Given the description of an element on the screen output the (x, y) to click on. 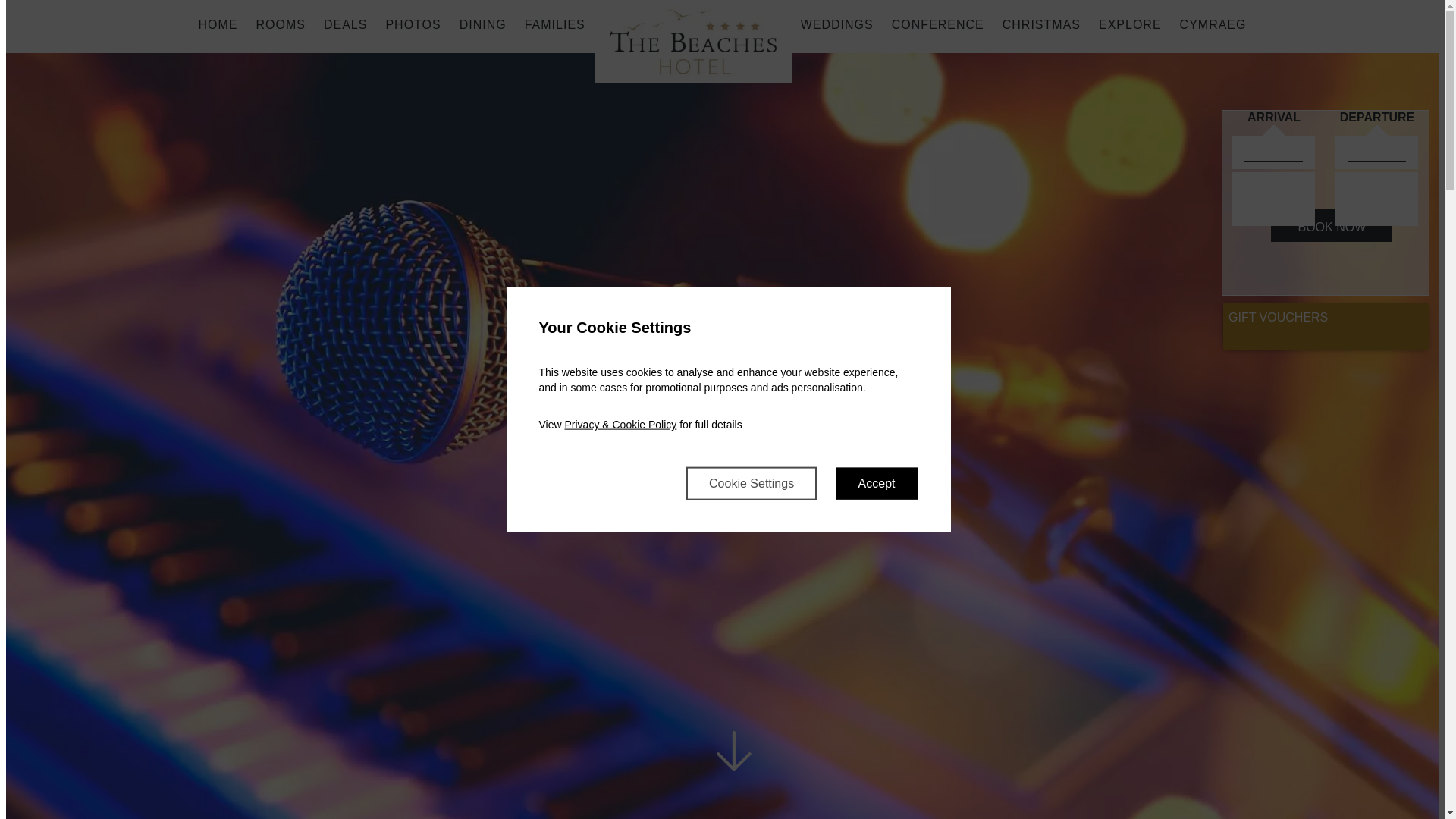
Welcome to Prestatyn (693, 41)
Accept (876, 482)
Cookie Settings (750, 482)
